Given the description of an element on the screen output the (x, y) to click on. 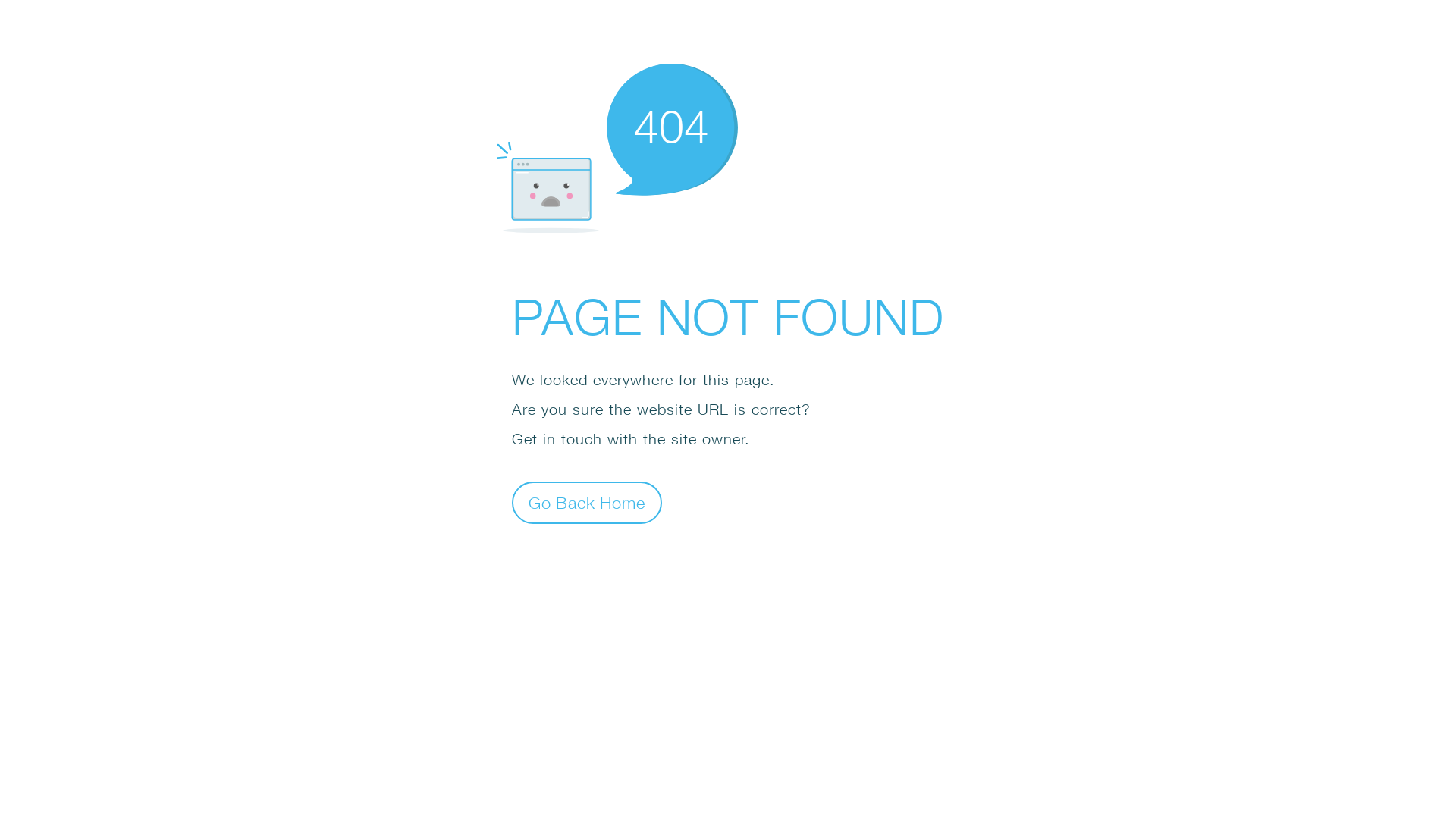
Go Back Home Element type: text (586, 502)
